Given the description of an element on the screen output the (x, y) to click on. 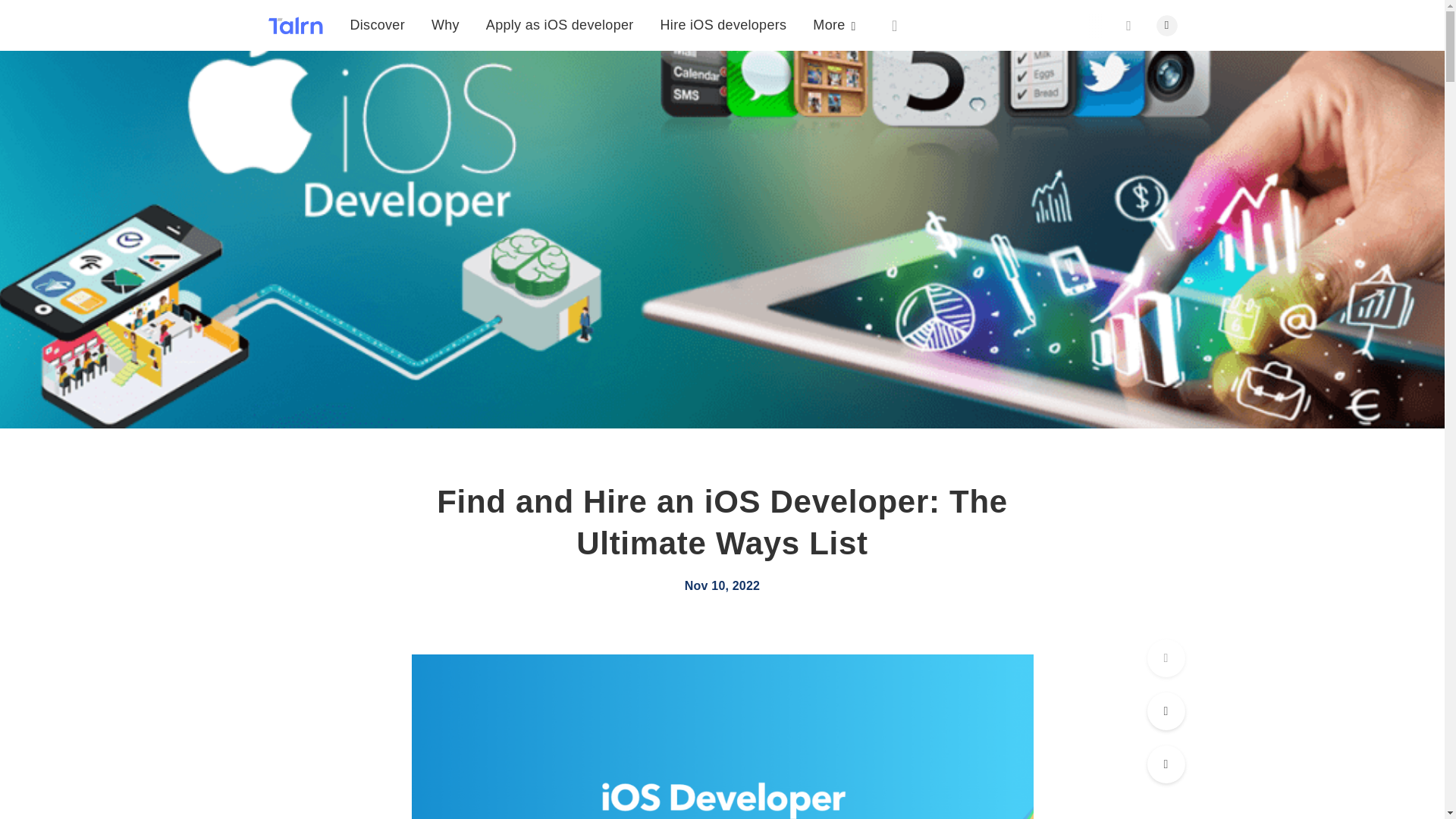
Hire iOS developers (724, 15)
Apply as iOS developer (559, 7)
More (834, 19)
